Given the description of an element on the screen output the (x, y) to click on. 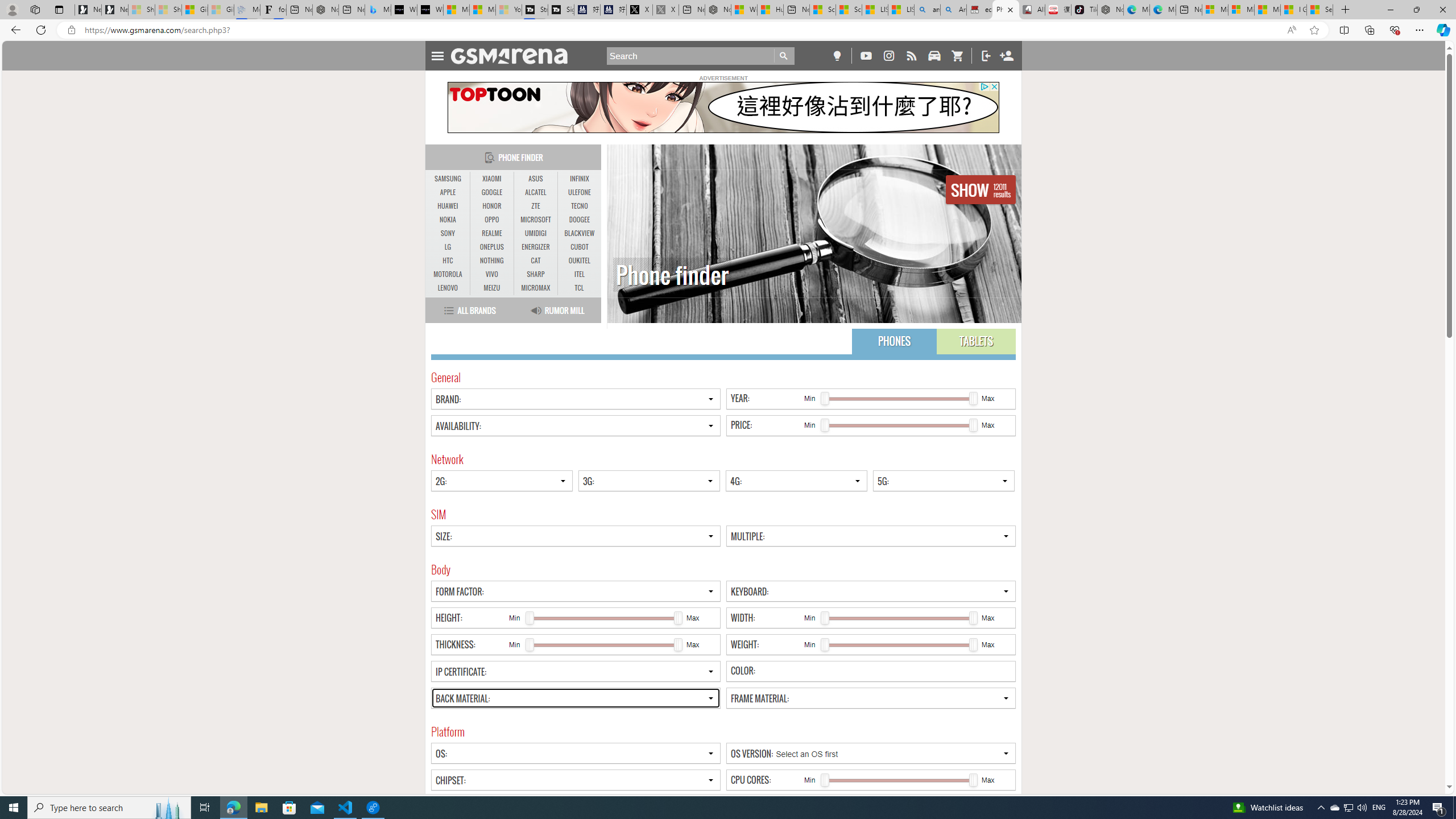
ZTE (535, 206)
APPLE (448, 192)
ONEPLUS (491, 246)
